Given the description of an element on the screen output the (x, y) to click on. 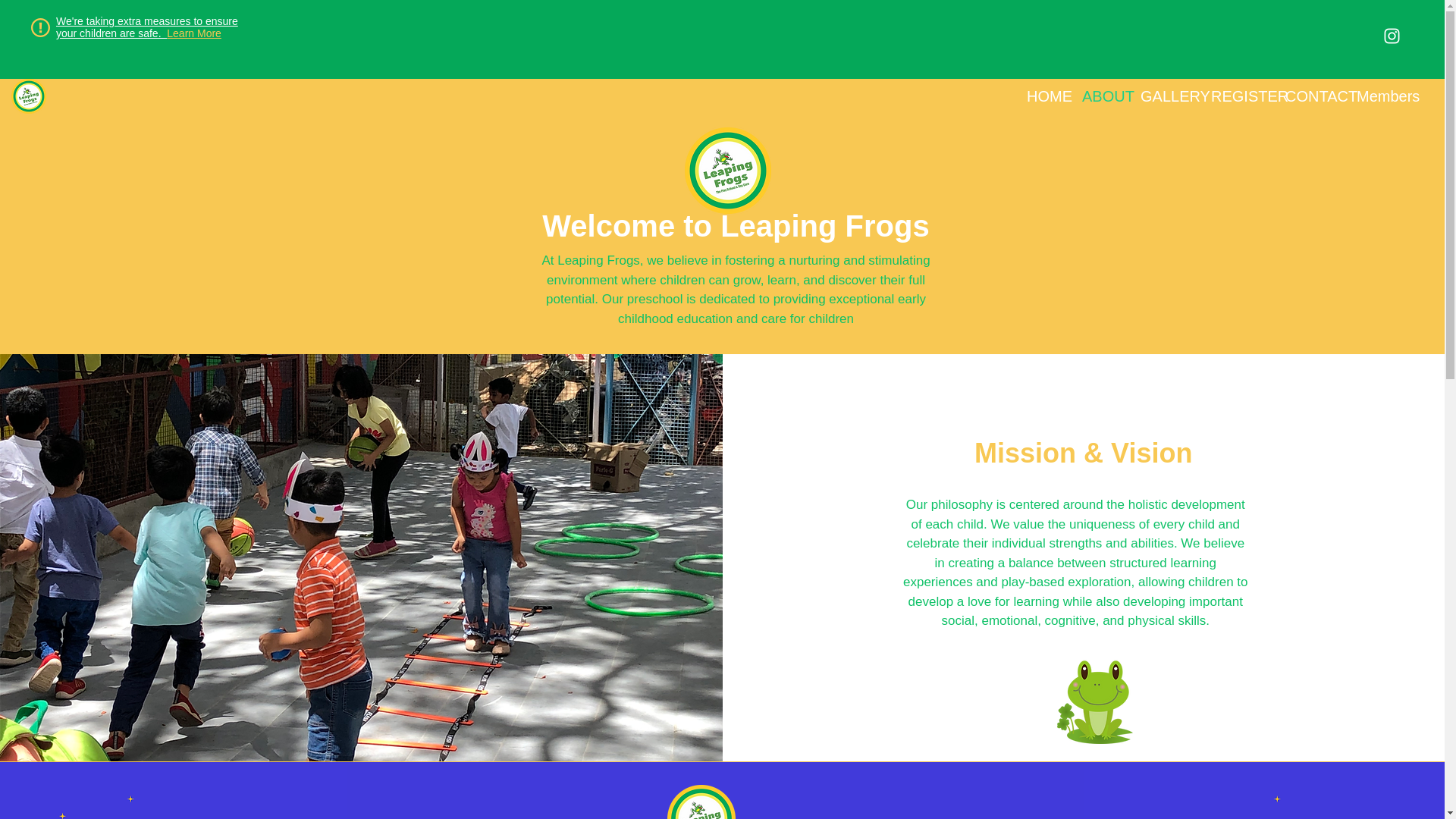
LF Logo.png (700, 801)
Members (1385, 95)
HOME (1042, 95)
LF Logo.png (727, 170)
REGISTER (1236, 95)
LF Logo.png (28, 95)
ABOUT (1099, 95)
CONTACT (1309, 95)
GALLERY (1164, 95)
